Given the description of an element on the screen output the (x, y) to click on. 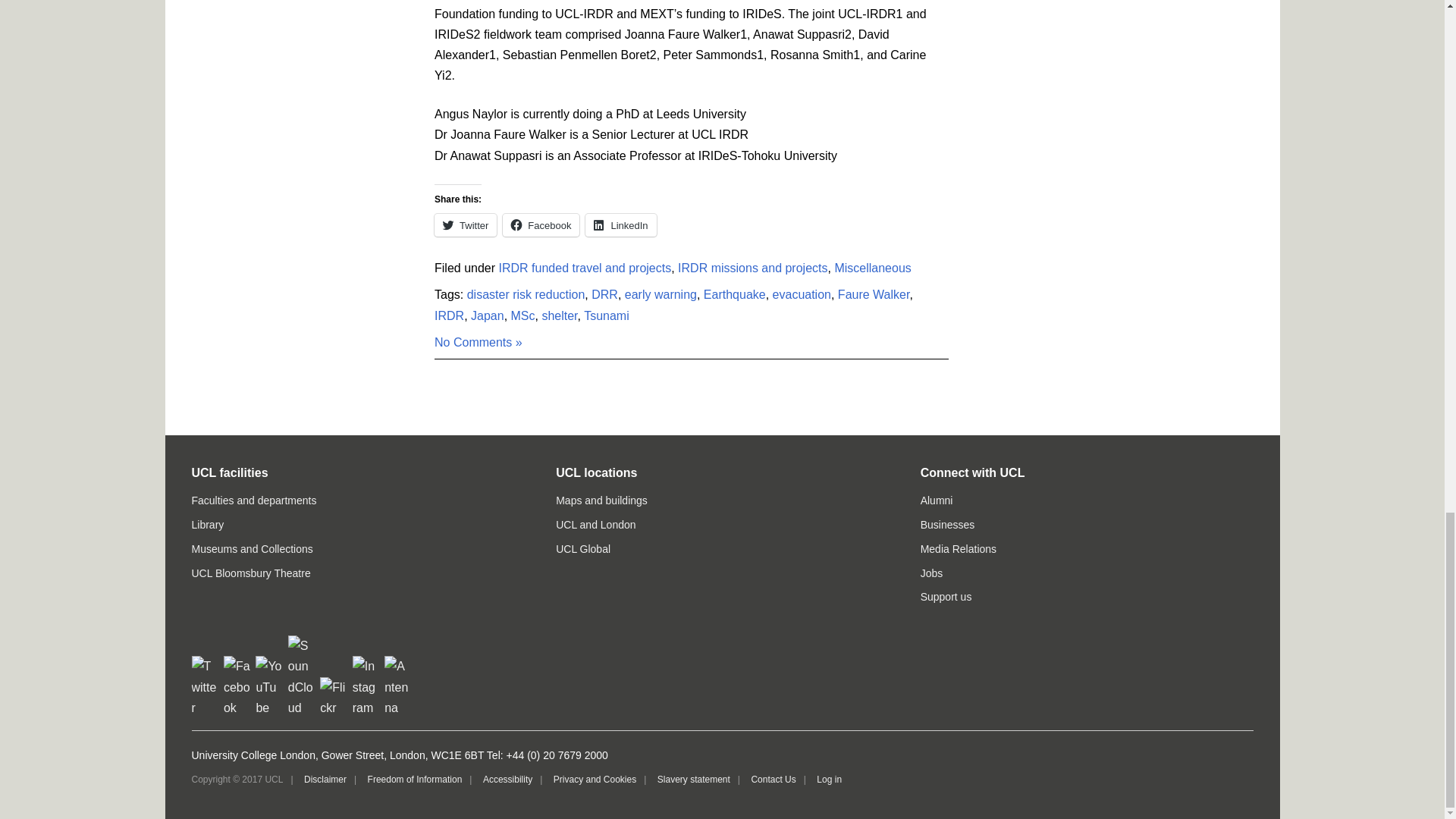
Tsunami (605, 315)
Click to share on Facebook (540, 224)
shelter (558, 315)
Earthquake (734, 294)
IRDR (448, 315)
Faure Walker (874, 294)
IRDR funded travel and projects (585, 267)
Japan (486, 315)
MSc (523, 315)
LinkedIn (620, 224)
Facebook (540, 224)
IRDR missions and projects (752, 267)
Twitter (464, 224)
disaster risk reduction (526, 294)
Click to share on LinkedIn (620, 224)
